Given the description of an element on the screen output the (x, y) to click on. 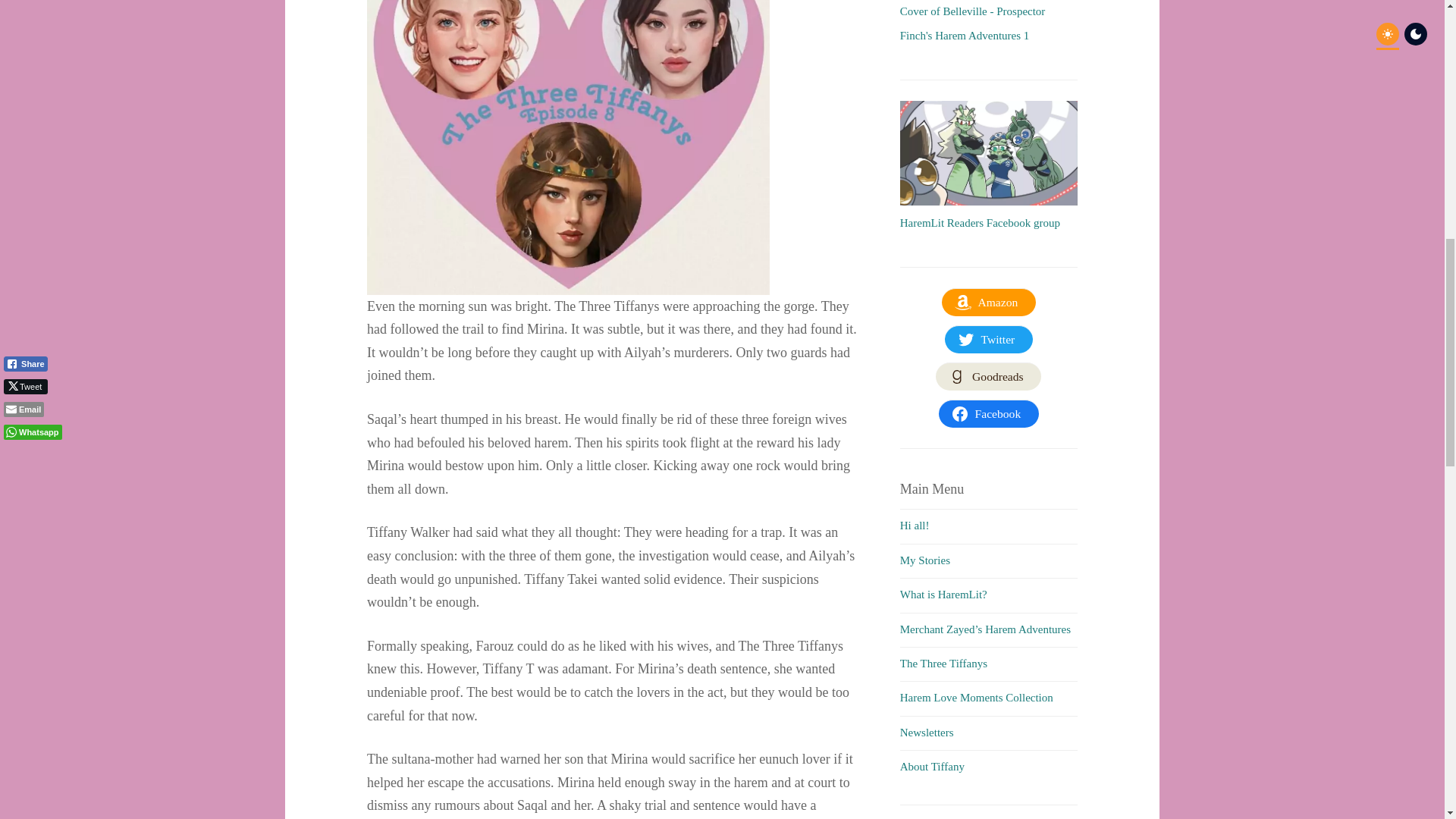
HaremLit Readers Facebook group (979, 223)
Facebook (989, 413)
Harem Love Moments Collection (975, 697)
Goodreads (988, 376)
Twitter (988, 338)
The Three Tiffanys (943, 663)
What is HaremLit? (943, 594)
Hi all! (914, 525)
Amazon (988, 302)
My Stories (924, 560)
